Given the description of an element on the screen output the (x, y) to click on. 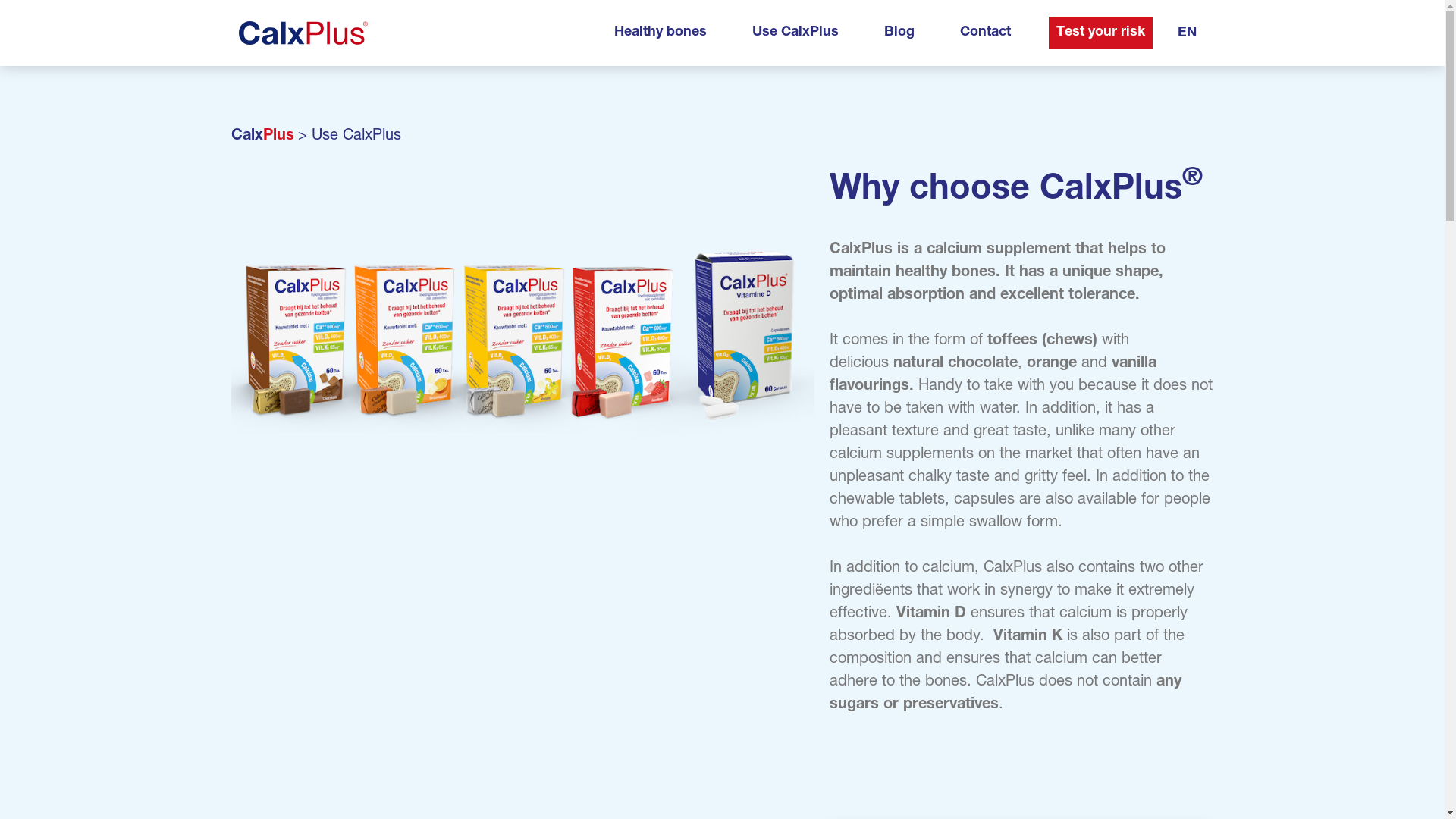
Contact Element type: text (985, 32)
Healthy bones Element type: text (660, 32)
Test your risk Element type: text (1100, 32)
Blog Element type: text (899, 32)
Use CalxPlus Element type: text (795, 32)
EN Element type: text (1186, 32)
NL Element type: text (1186, 64)
